Given the description of an element on the screen output the (x, y) to click on. 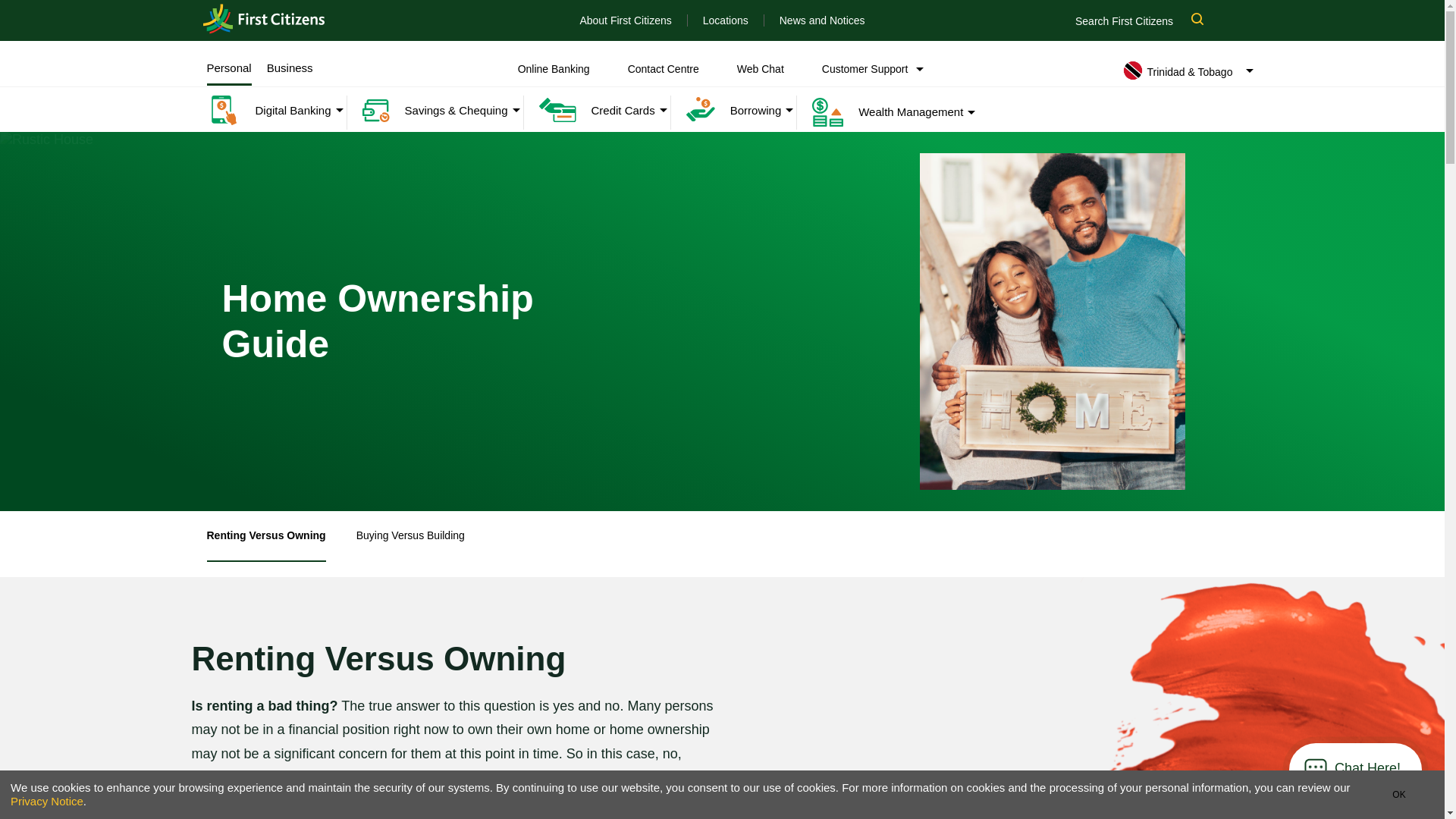
Trinidad and Tobago (263, 20)
Search First Citizens (1146, 20)
About First Citizens (625, 20)
Wealth Management (879, 112)
Borrowing (726, 110)
News and Notices (821, 20)
Locations (725, 20)
Personal (228, 68)
Trinidad and Tobago (263, 19)
Click for Chat Support (1367, 768)
